Given the description of an element on the screen output the (x, y) to click on. 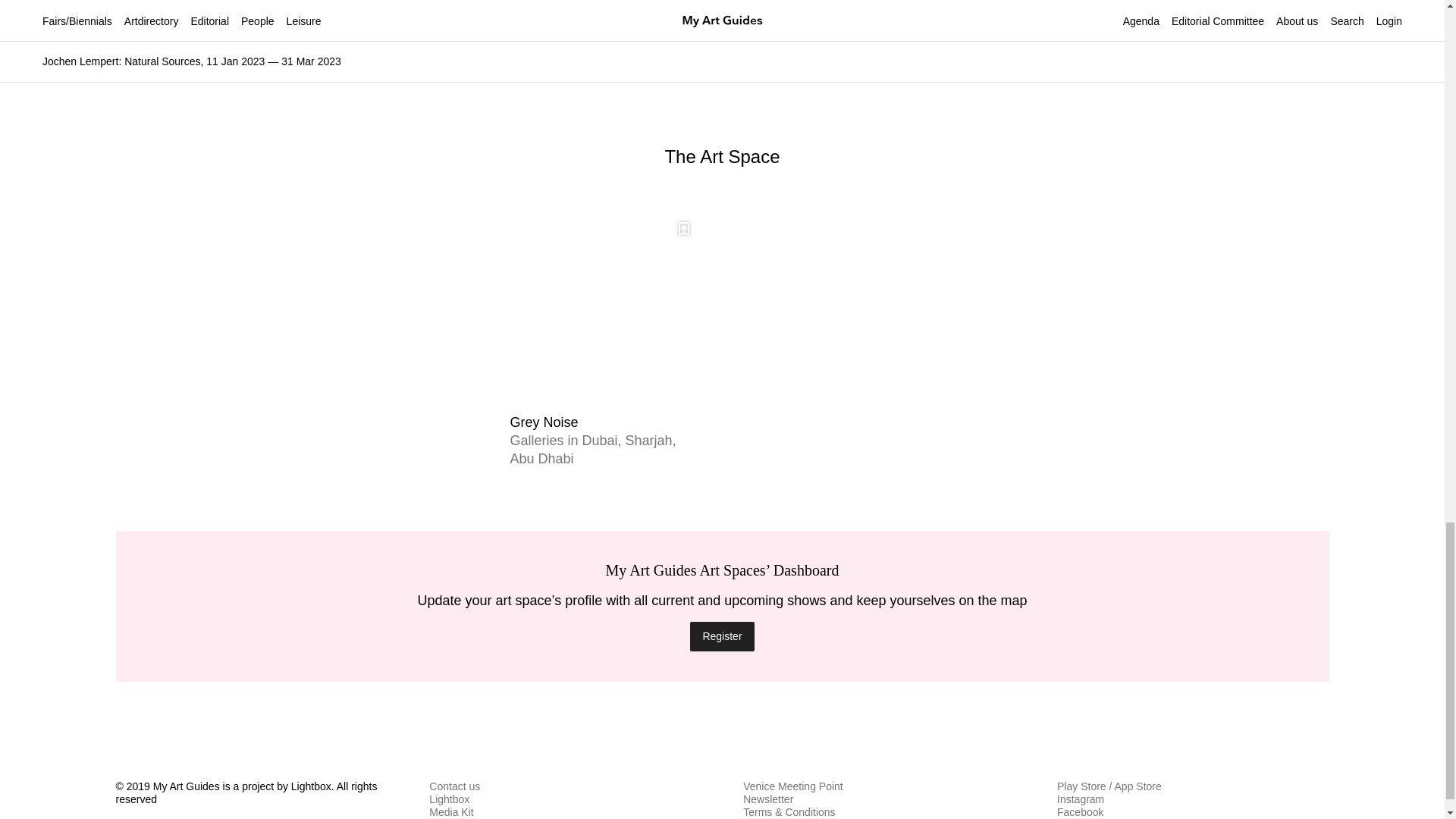
Venice Meeting Point (792, 786)
Contact us (454, 786)
Facebook (1080, 811)
Lightbox (448, 799)
Media Kit (451, 811)
Register (722, 636)
Instagram (1080, 799)
App Store (1138, 786)
Play Store (1081, 786)
Newsletter (767, 799)
